Given the description of an element on the screen output the (x, y) to click on. 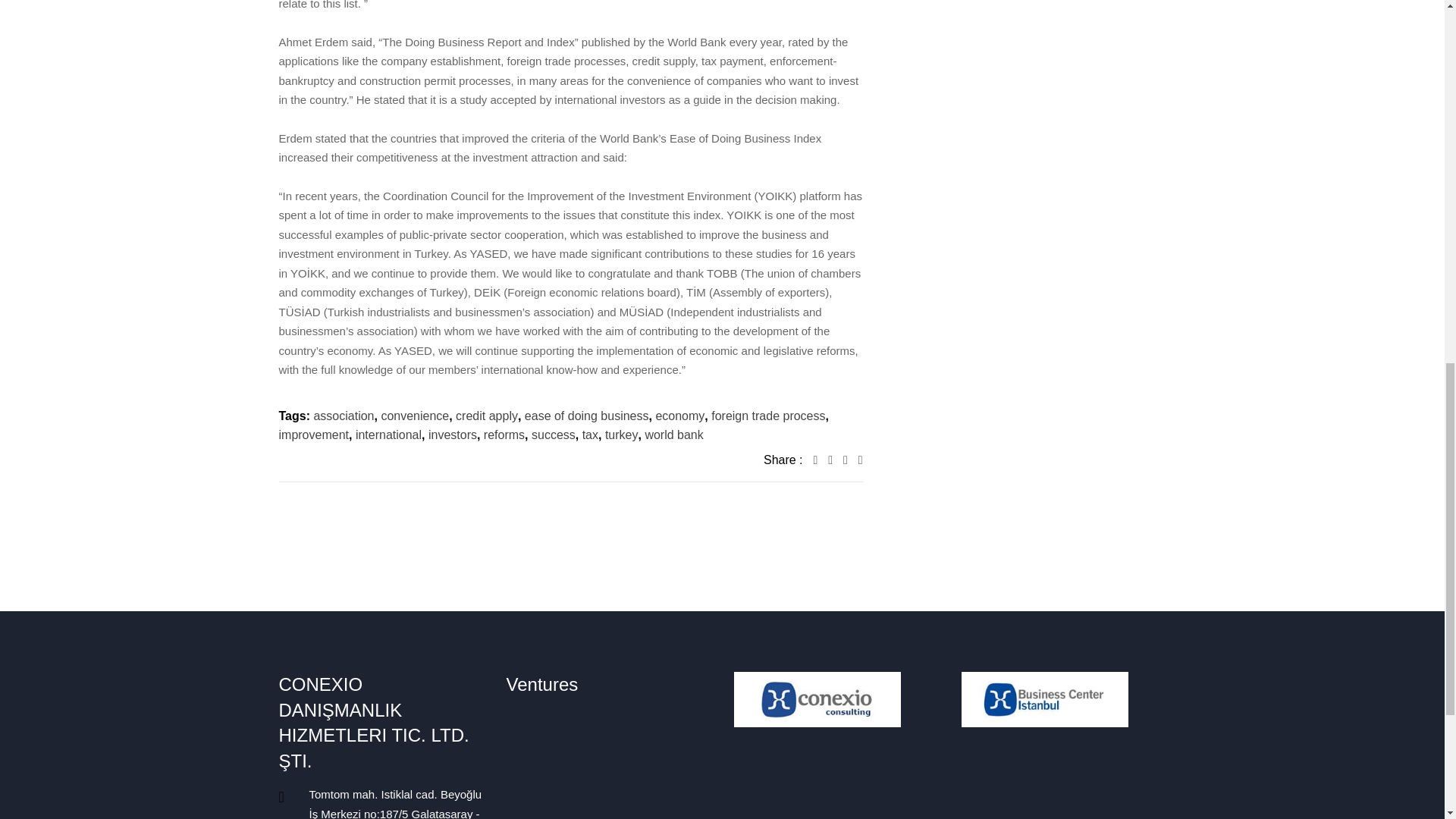
association (343, 415)
convenience (414, 415)
